Given the description of an element on the screen output the (x, y) to click on. 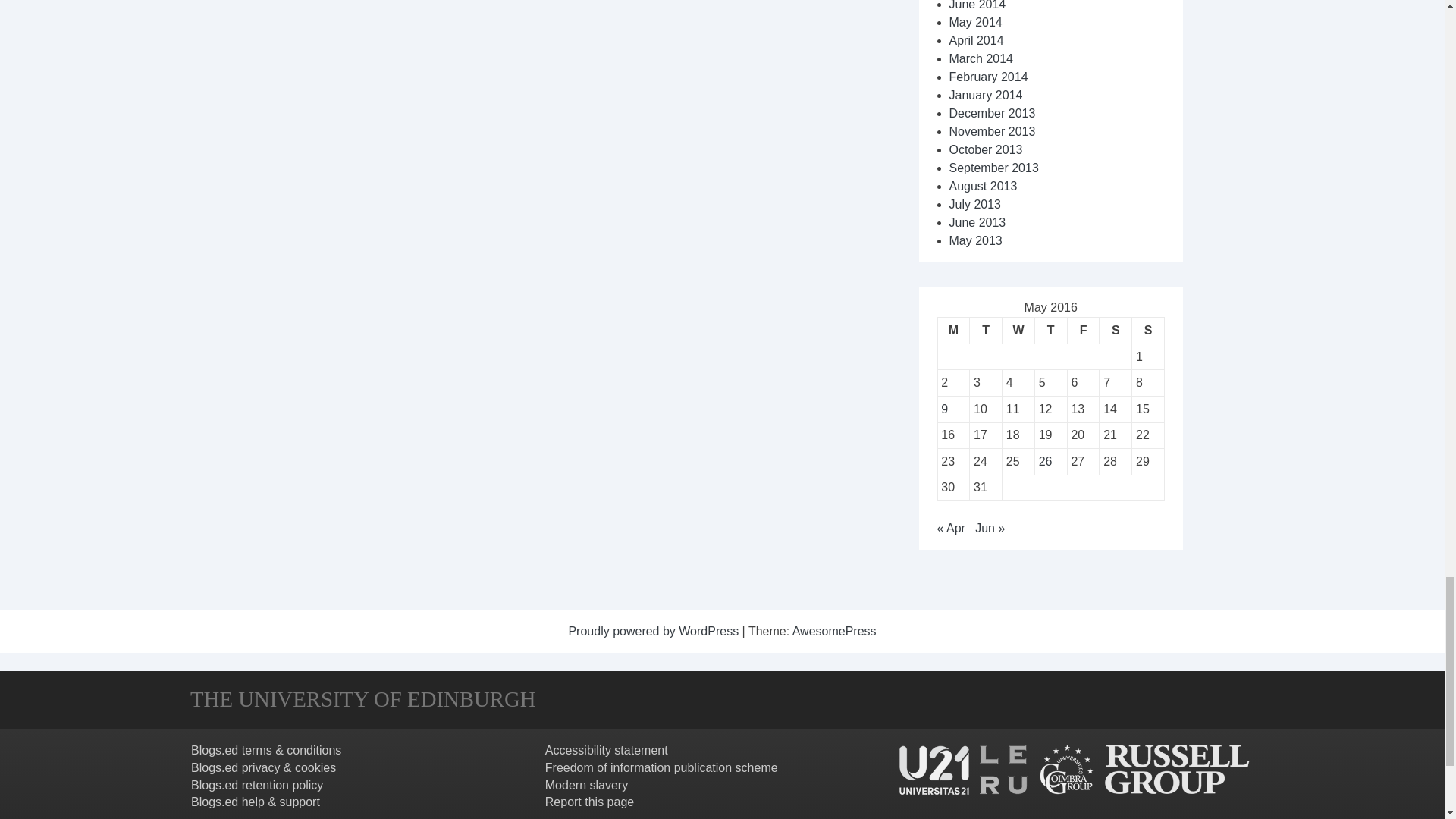
Tuesday (986, 330)
Wednesday (1019, 330)
Monday (953, 330)
Friday (1083, 330)
Saturday (1115, 330)
Sunday (1148, 330)
Thursday (1050, 330)
